Given the description of an element on the screen output the (x, y) to click on. 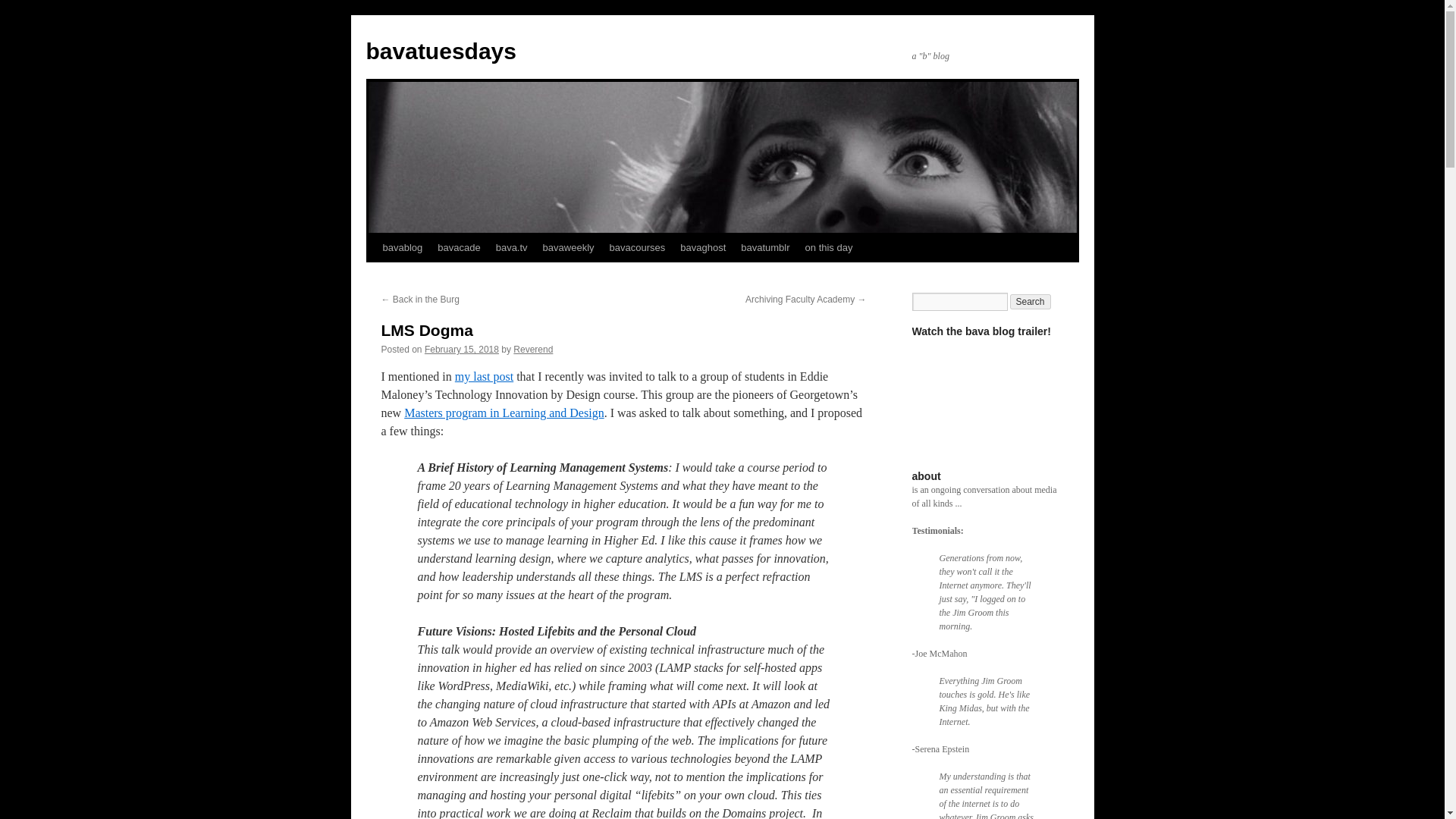
bavablog (401, 247)
View all posts by Reverend (533, 348)
Reverend (533, 348)
Search (1030, 301)
bavacade (458, 247)
my last post (483, 376)
bavaweekly (568, 247)
bavaghost (702, 247)
bavatuesdays (440, 50)
Masters program in Learning and Design (504, 412)
